Given the description of an element on the screen output the (x, y) to click on. 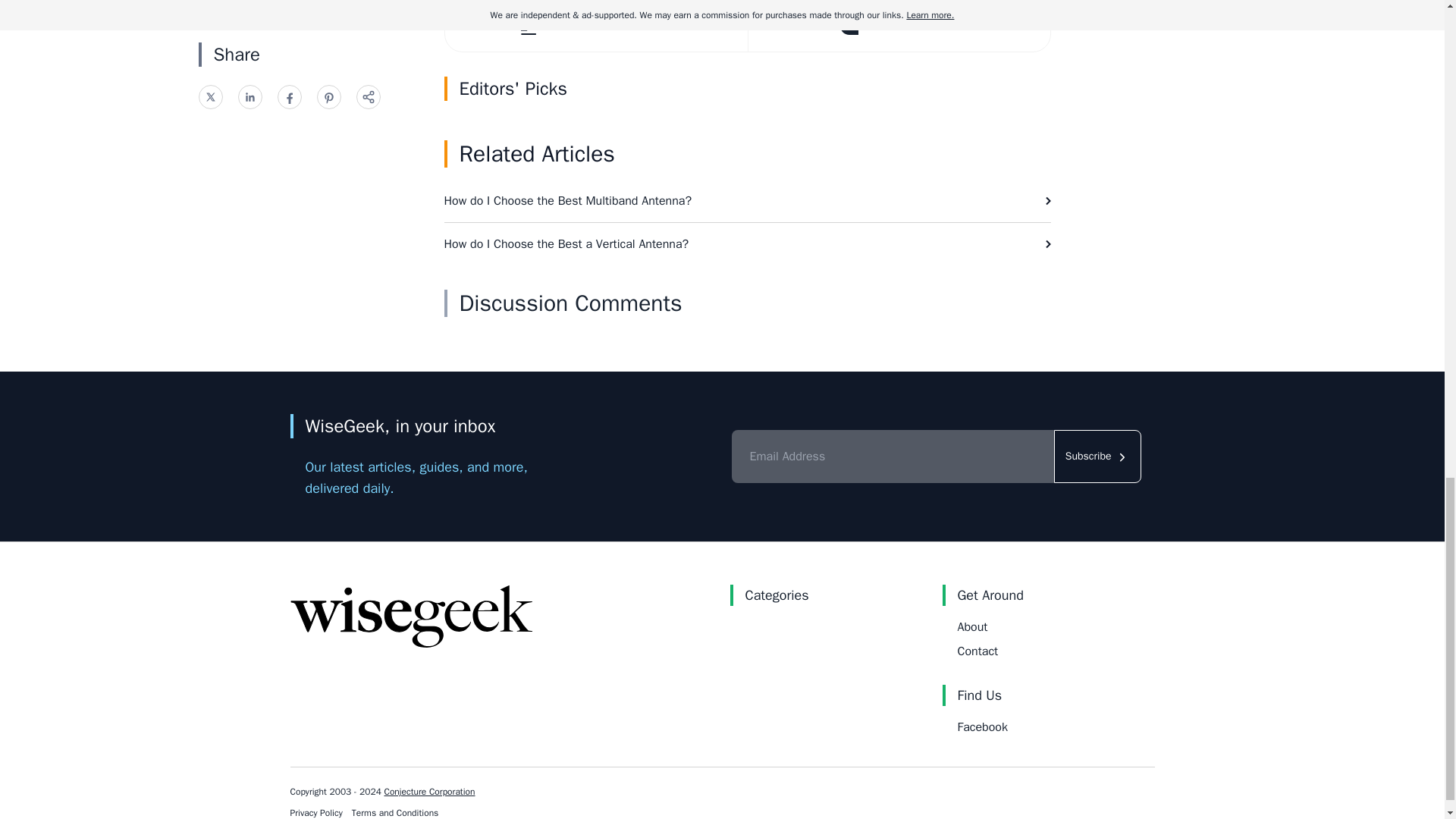
Share Feedback (898, 25)
How do I Choose the Best Multiband Antenna? (747, 200)
See our Editorial Process (595, 25)
